Given the description of an element on the screen output the (x, y) to click on. 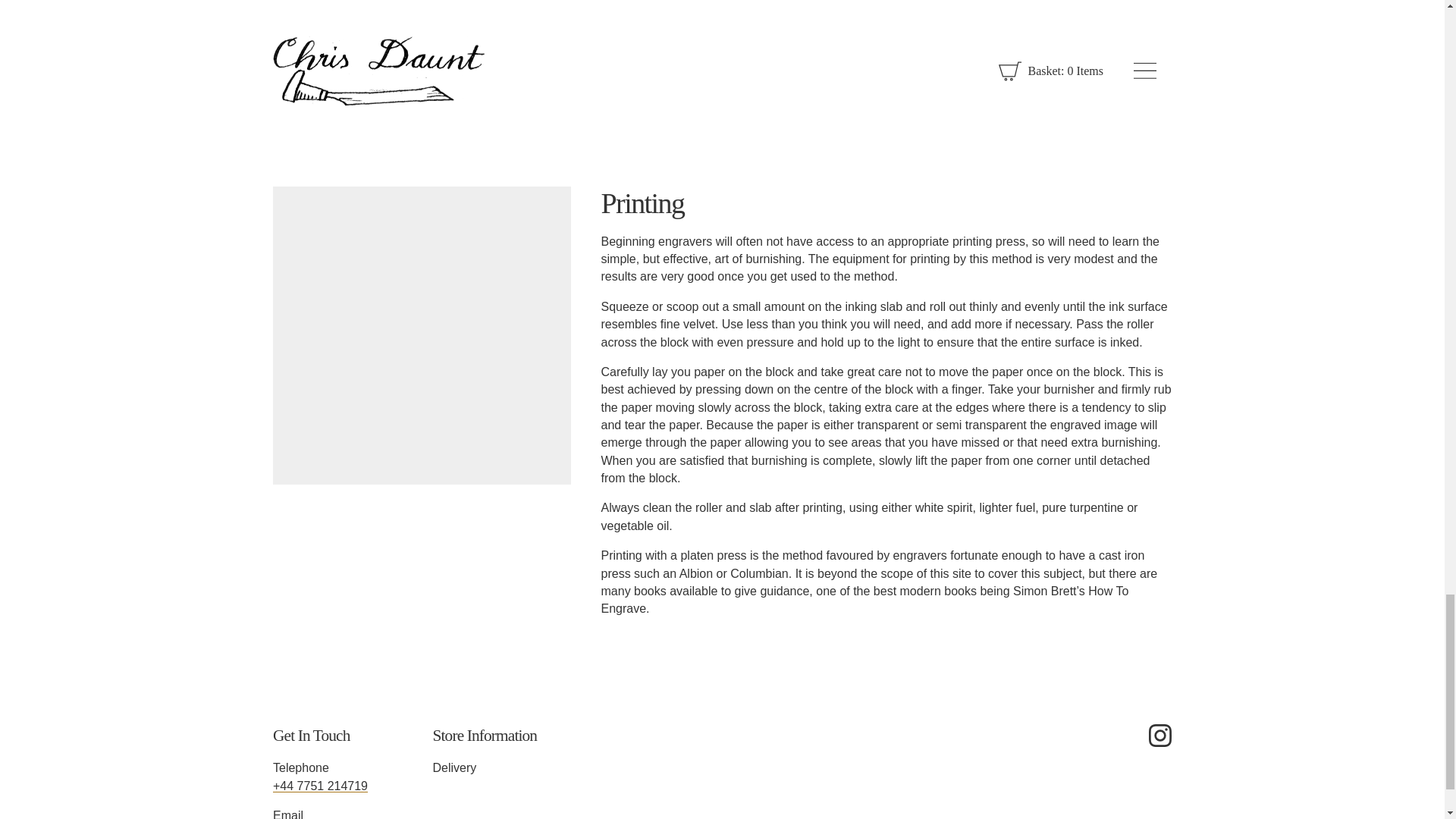
Delivery (484, 768)
